Given the description of an element on the screen output the (x, y) to click on. 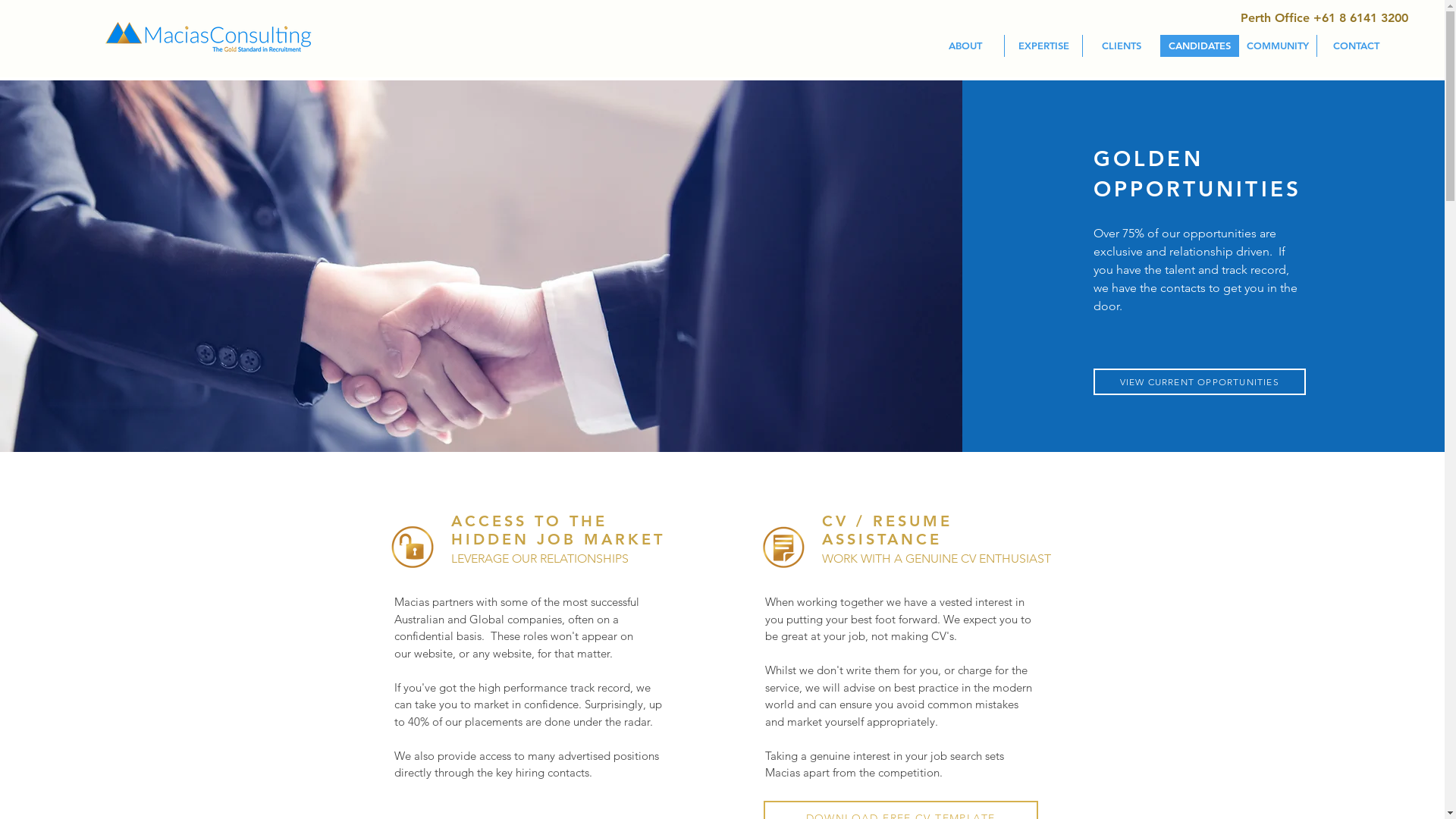
VIEW CURRENT OPPORTUNITIES Element type: text (1199, 381)
Perth Office +61 8 6141 3200 Element type: text (1324, 17)
EXPERTISE Element type: text (1043, 45)
ABOUT Element type: text (964, 45)
COMMUNITY Element type: text (1277, 45)
CLIENTS Element type: text (1121, 45)
CANDIDATES Element type: text (1199, 45)
CONTACT Element type: text (1355, 45)
